Given the description of an element on the screen output the (x, y) to click on. 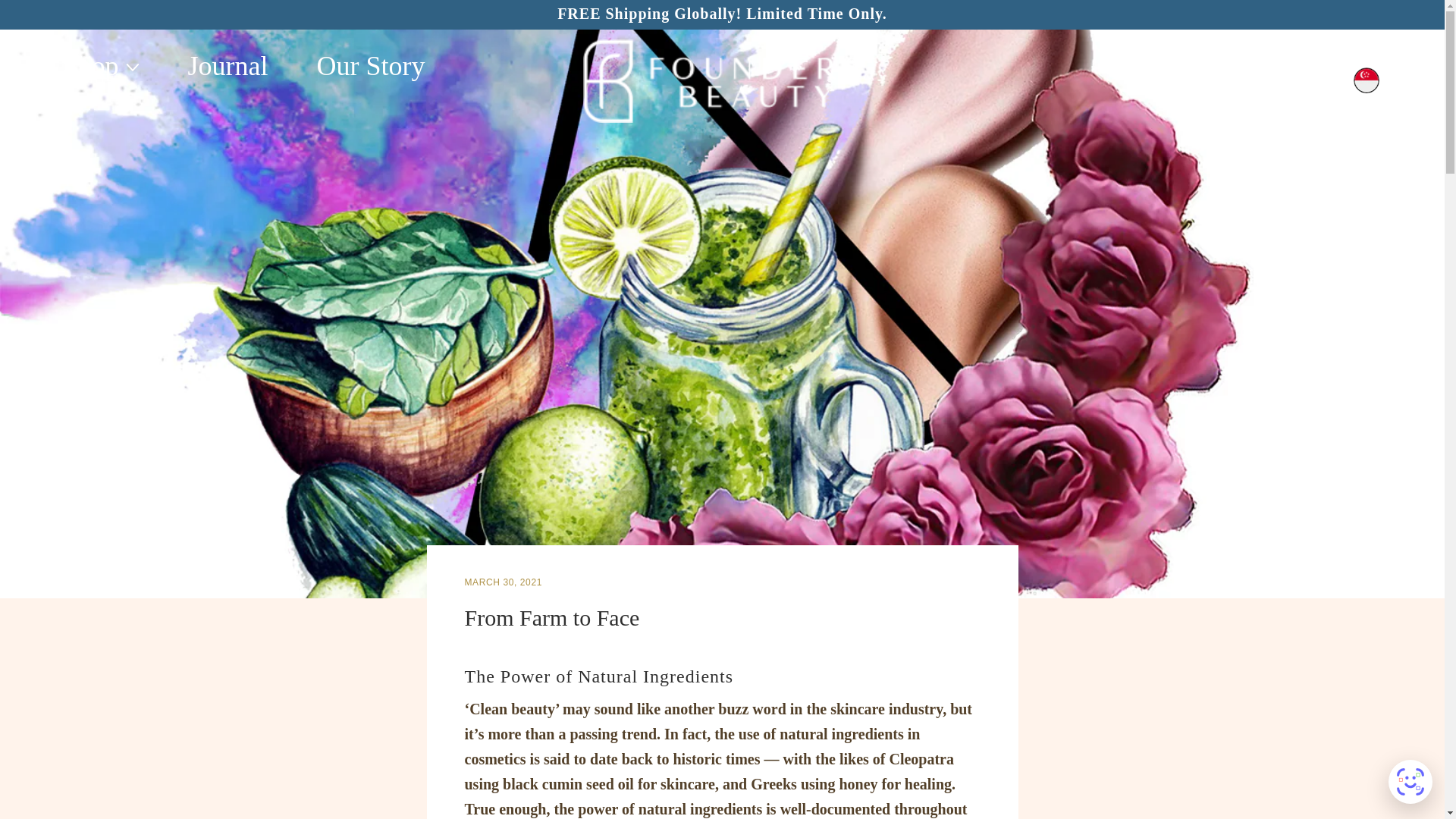
Journal (228, 66)
FREE Shipping Globally! Limited Time Only. (721, 13)
PHP (1293, 199)
GBP (1293, 138)
AUD (1293, 118)
SGD (1293, 219)
Search (1197, 79)
HKD (1293, 159)
Shop (101, 66)
Our Story (370, 66)
NZD (1293, 178)
USD (1293, 240)
